Given the description of an element on the screen output the (x, y) to click on. 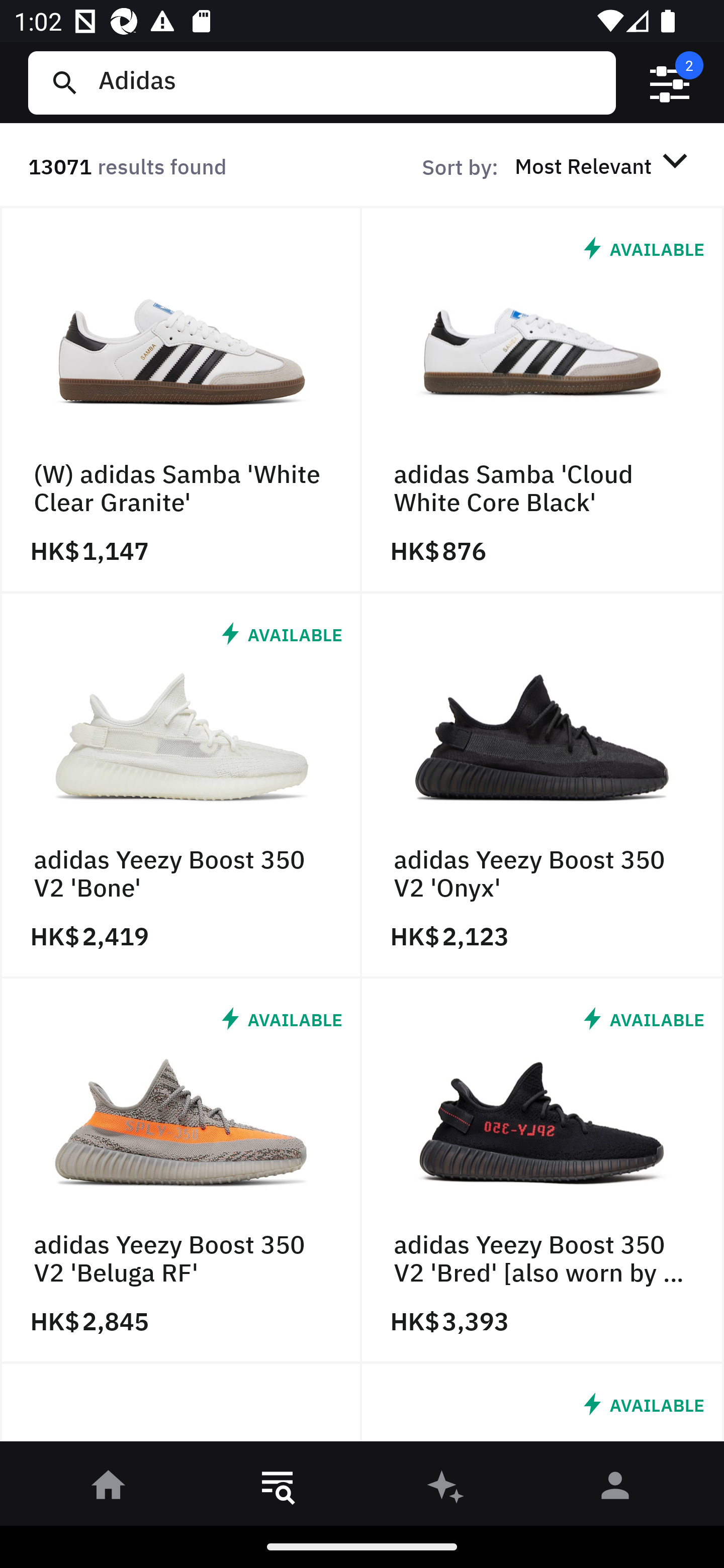
Adidas (349, 82)
 (669, 82)
Most Relevant  (604, 165)
(W) adidas Samba 'White Clear Granite' HK$ 1,147 (181, 399)
adidas Yeezy Boost 350 V2 'Onyx' HK$ 2,123 (543, 785)
󰋜 (108, 1488)
󱎸 (277, 1488)
󰫢 (446, 1488)
󰀄 (615, 1488)
